Given the description of an element on the screen output the (x, y) to click on. 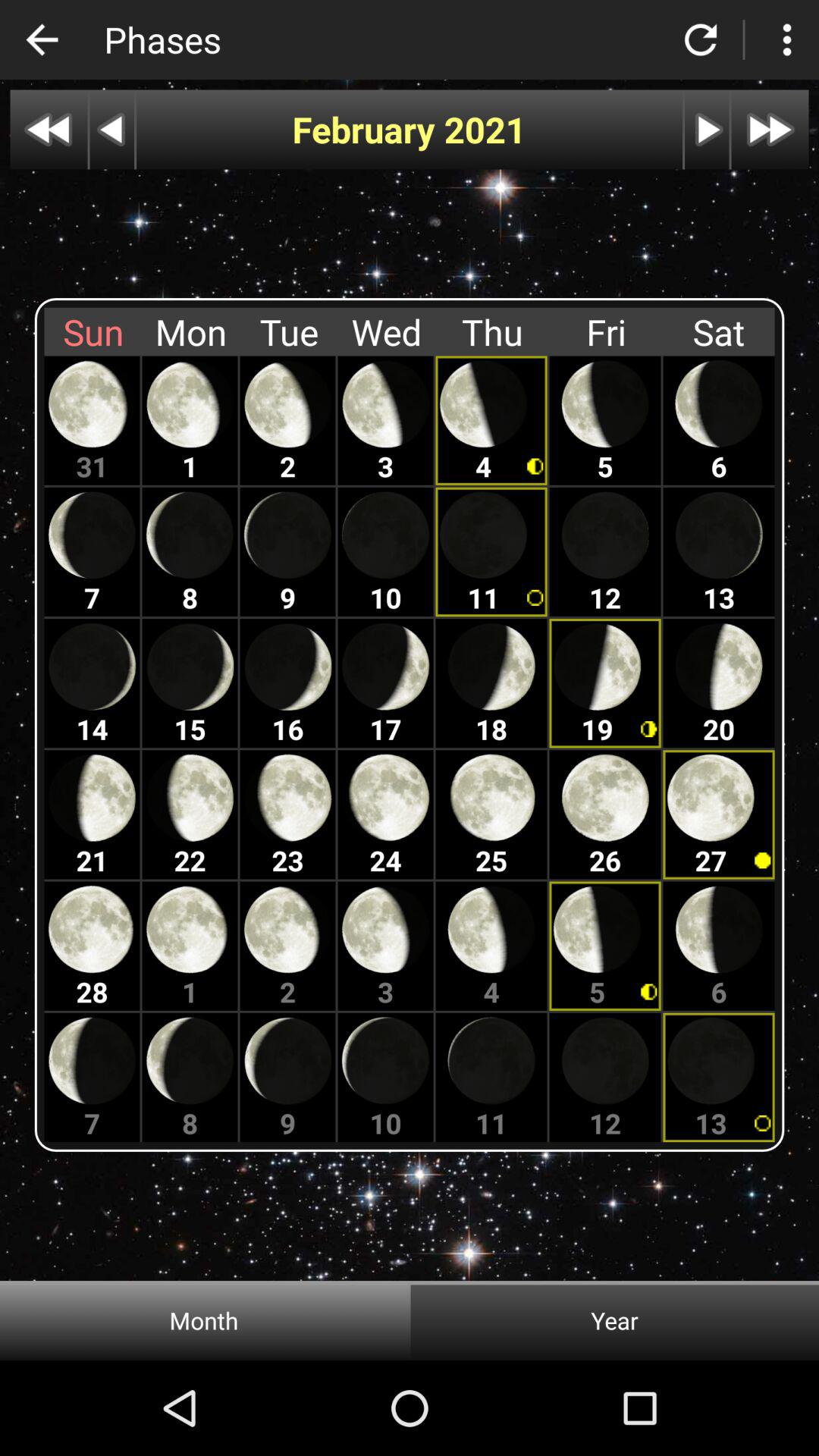
go back (700, 39)
